Given the description of an element on the screen output the (x, y) to click on. 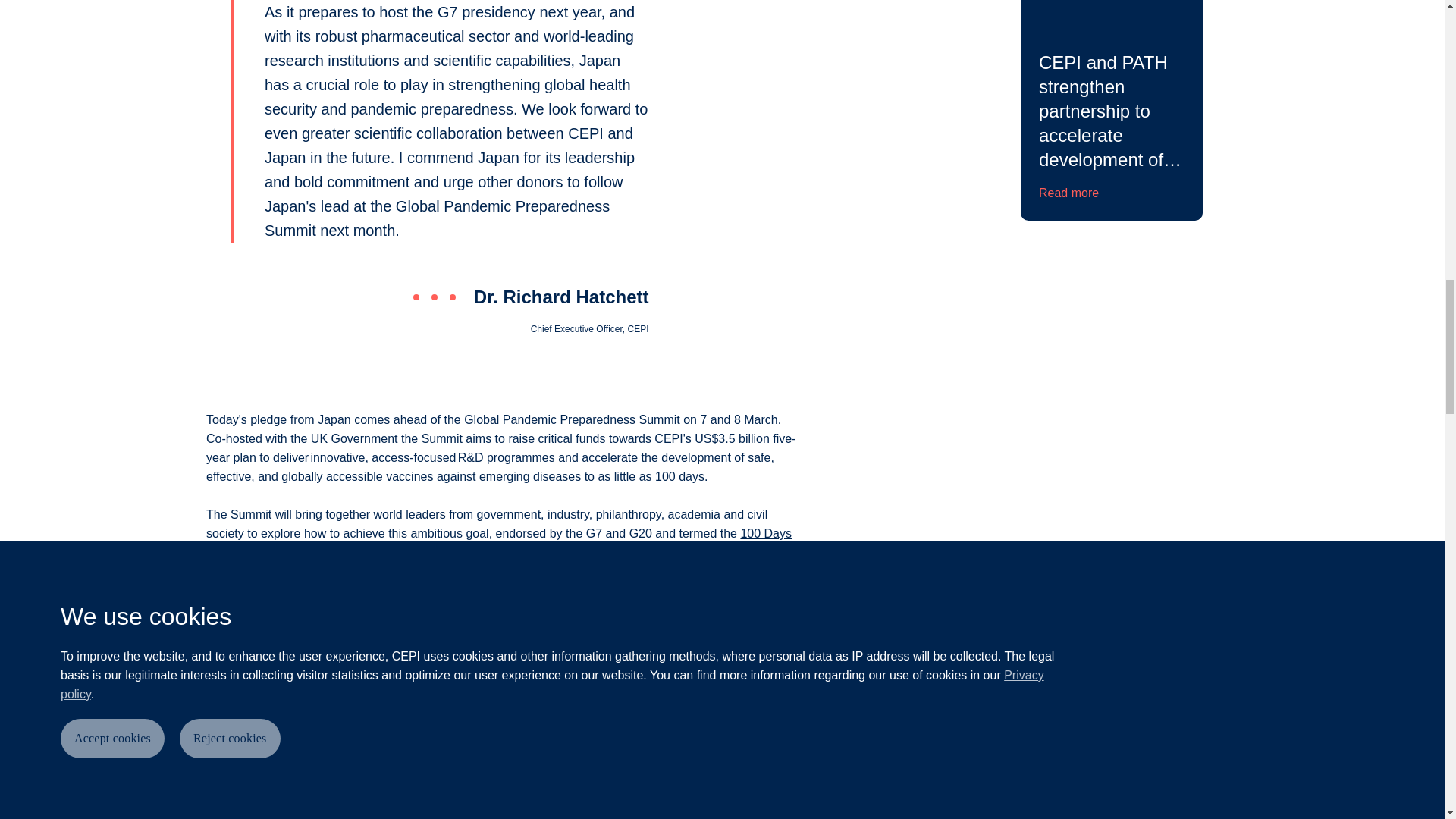
announcement (255, 769)
Read more (1069, 193)
100 Days Mission (499, 542)
